Given the description of an element on the screen output the (x, y) to click on. 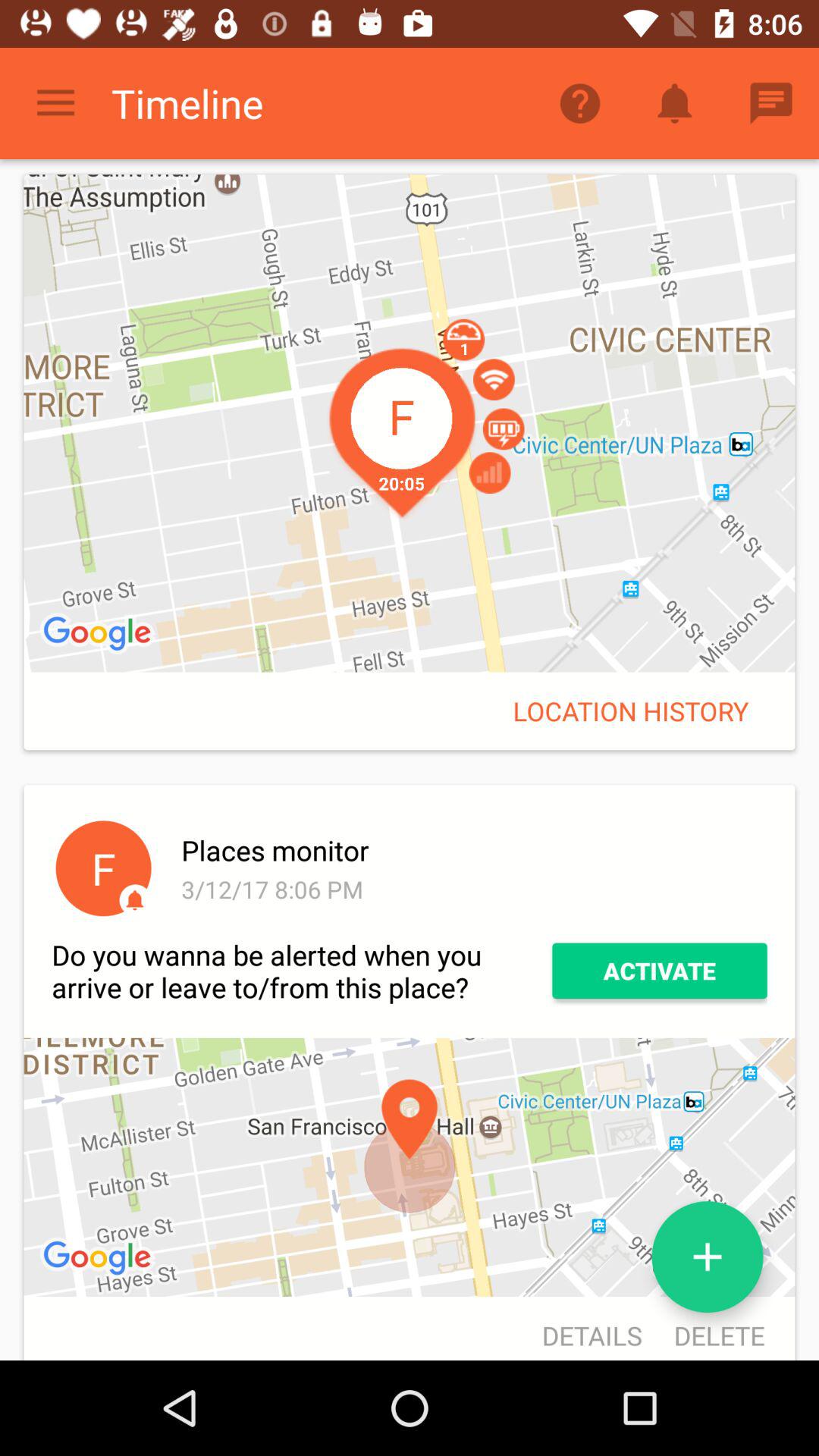
launch icon below the f (301, 971)
